Given the description of an element on the screen output the (x, y) to click on. 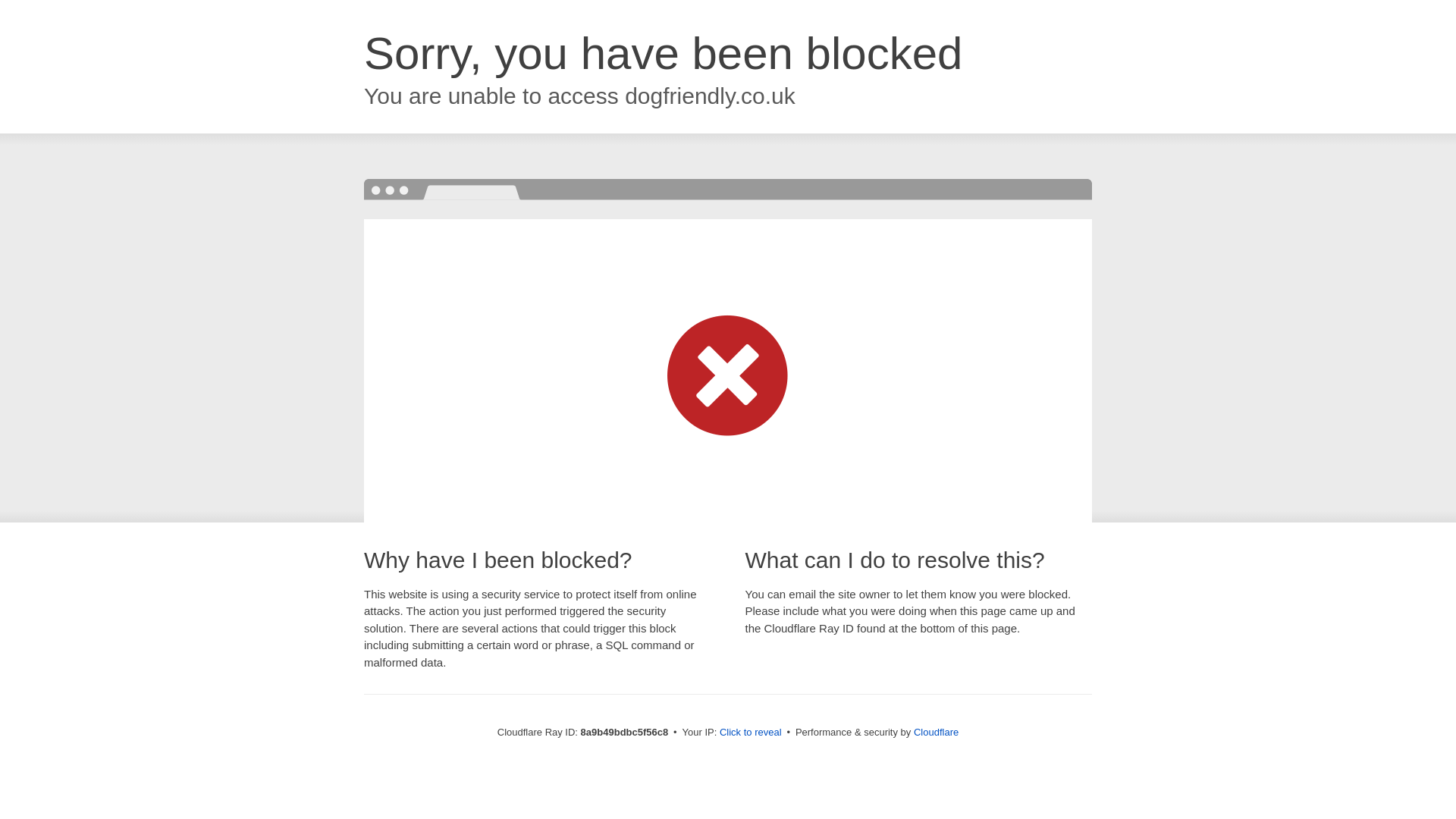
Click to reveal (750, 732)
Cloudflare (936, 731)
